Given the description of an element on the screen output the (x, y) to click on. 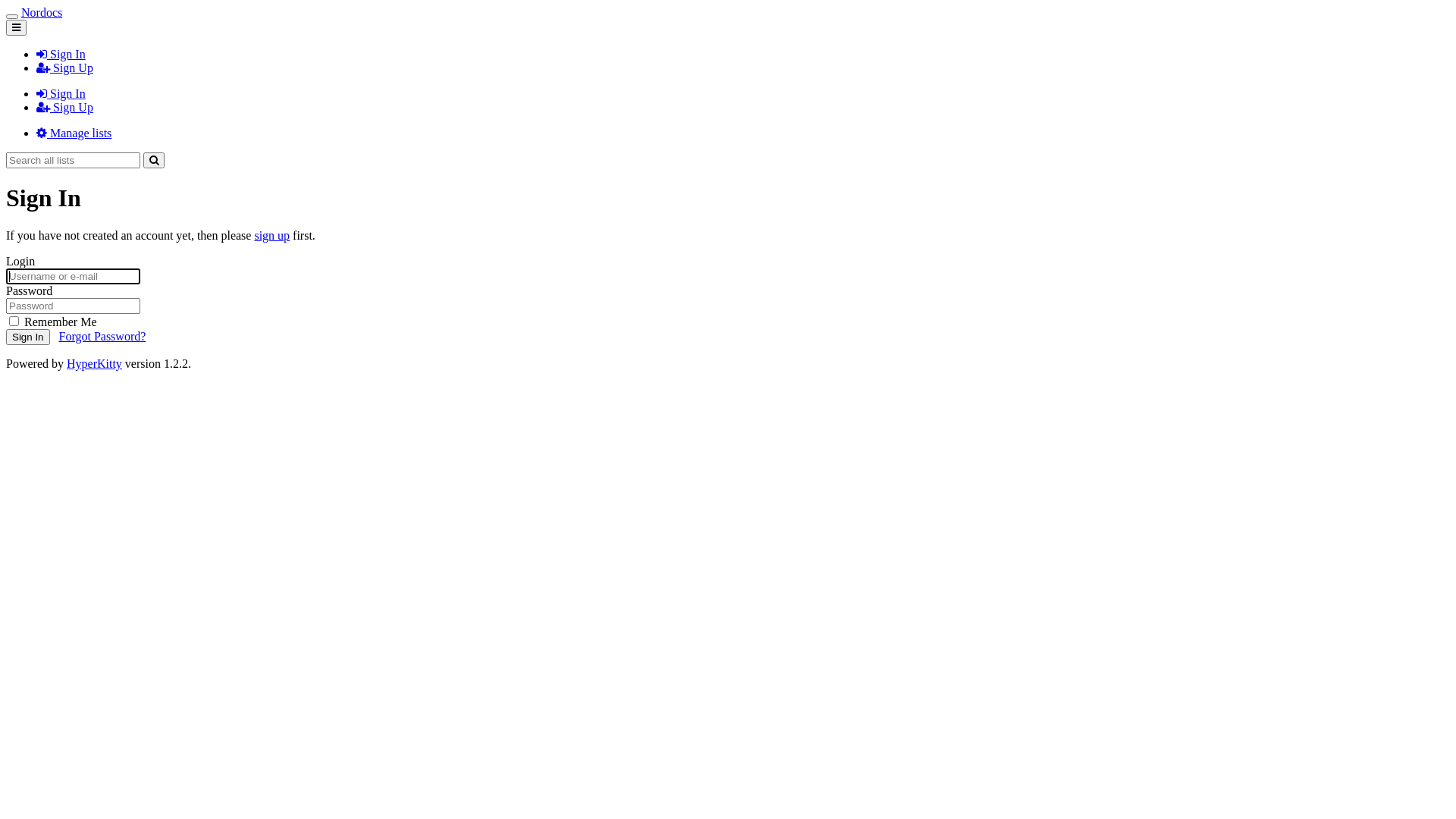
Sign Up Element type: text (64, 67)
Nordocs Element type: text (41, 12)
Sign In Element type: text (28, 337)
sign up Element type: text (271, 235)
Sign Up Element type: text (64, 106)
Forgot Password? Element type: text (102, 335)
Sign In Element type: text (60, 93)
Sign In Element type: text (60, 53)
Manage lists Element type: text (73, 132)
HyperKitty Element type: text (94, 363)
